Given the description of an element on the screen output the (x, y) to click on. 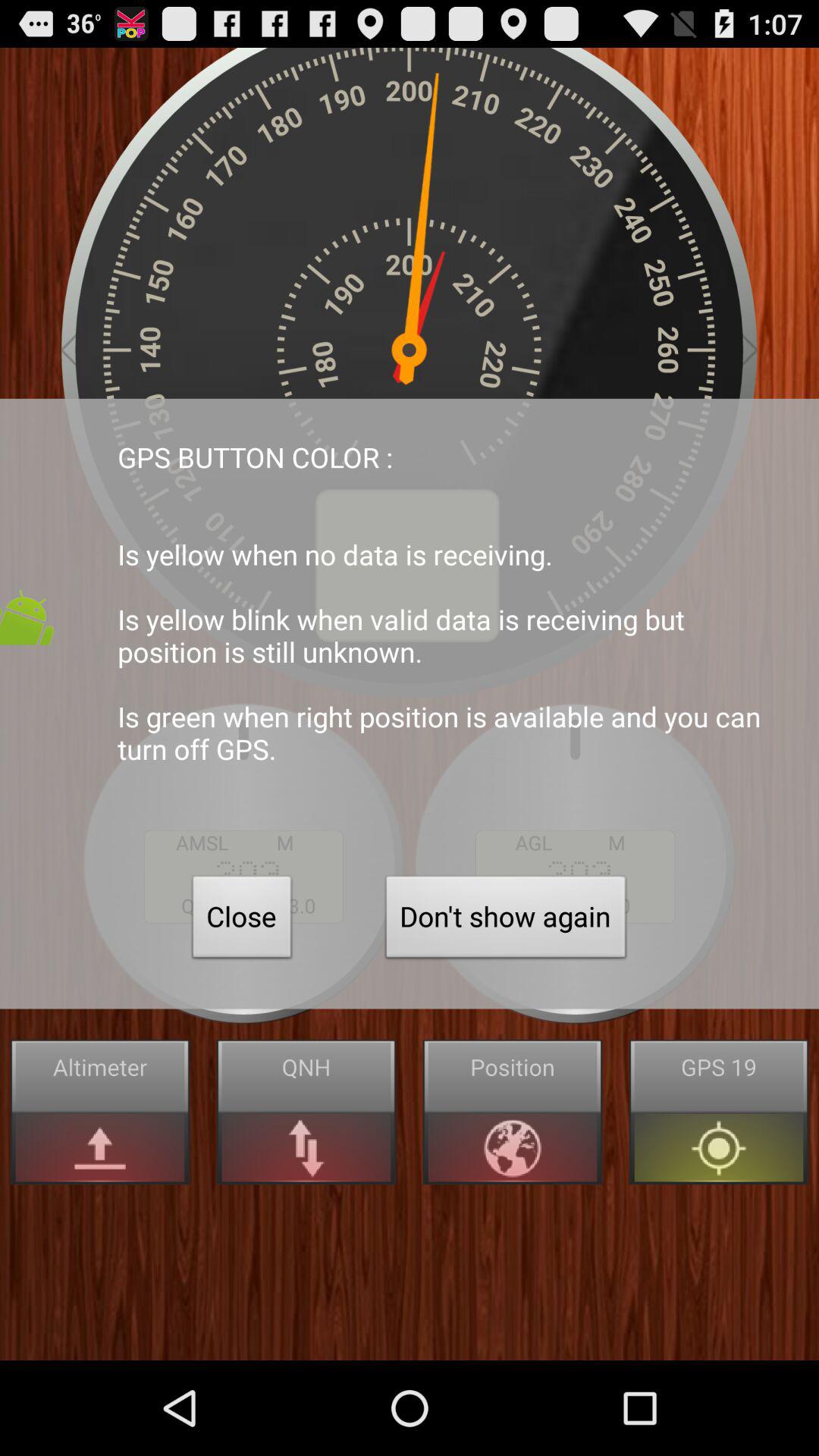
choose the button to the left of the don t show icon (242, 921)
